Given the description of an element on the screen output the (x, y) to click on. 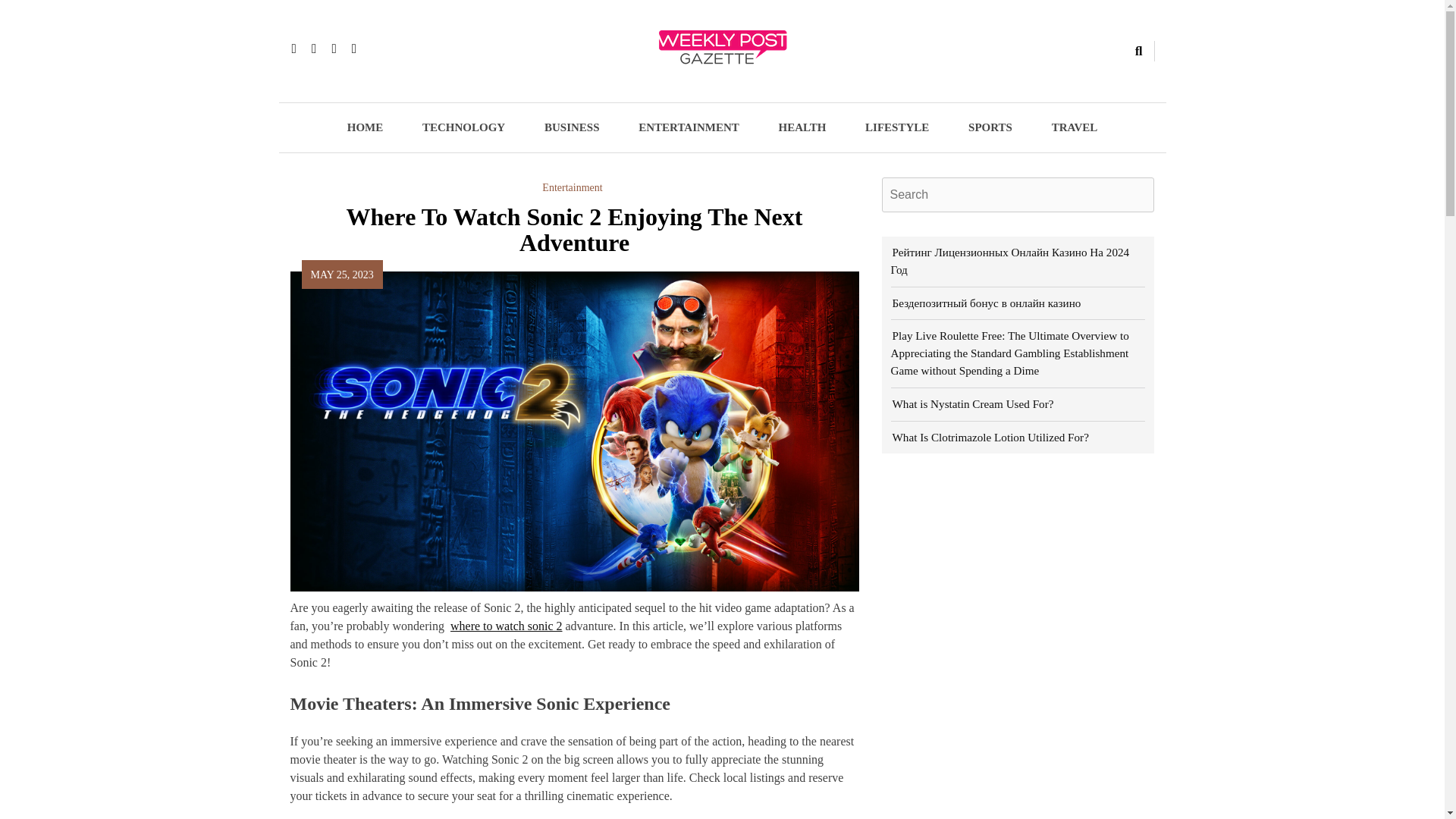
MAY 25, 2023 (342, 273)
ENTERTAINMENT (688, 127)
What is Nystatin Cream Used For? (970, 403)
TECHNOLOGY (463, 127)
where to watch sonic 2 (505, 625)
LIFESTYLE (897, 127)
Entertainment (571, 187)
BUSINESS (571, 127)
Weekly Post Gazette (549, 90)
